Given the description of an element on the screen output the (x, y) to click on. 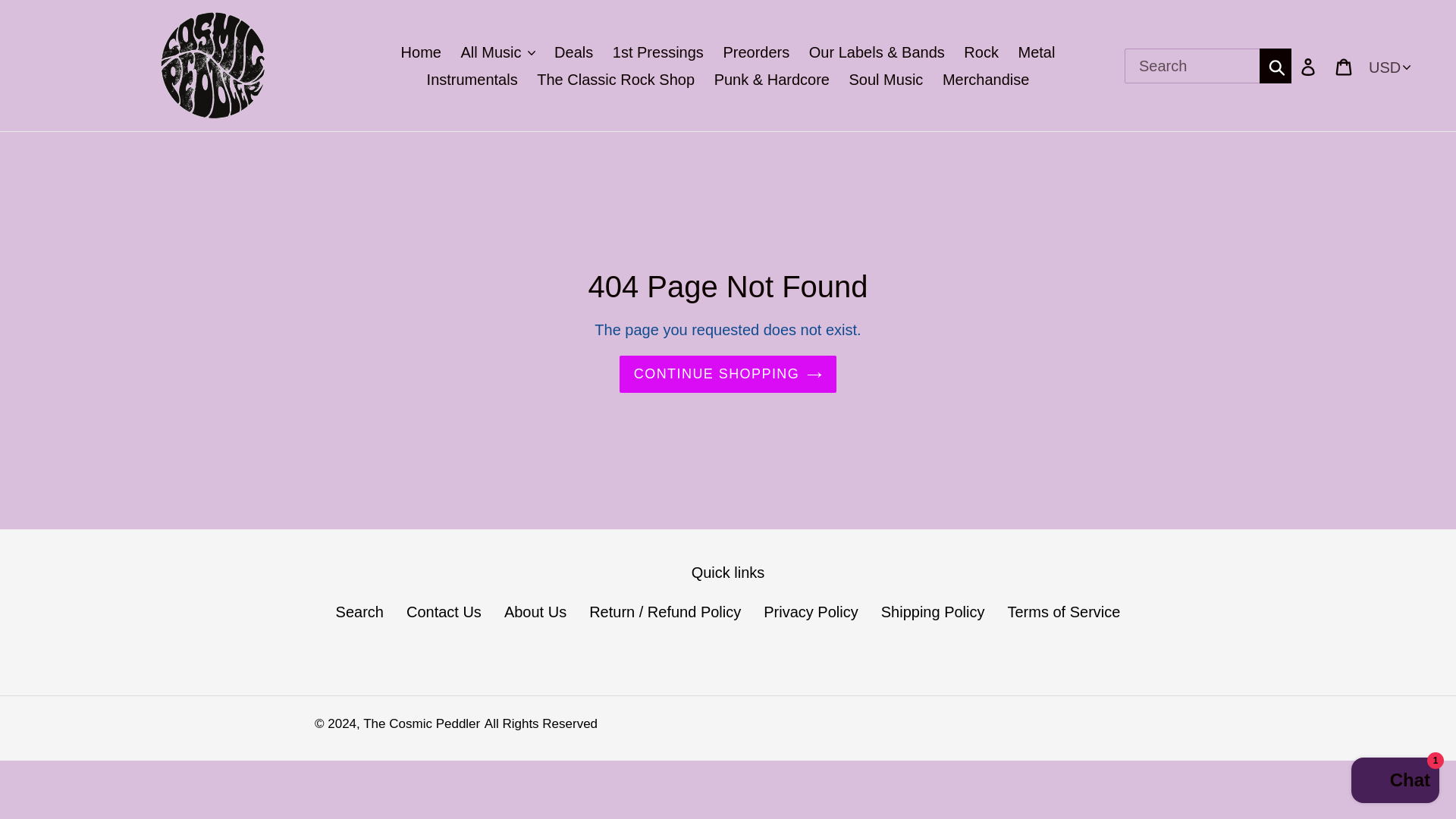
The Classic Rock Shop (615, 78)
Log in (1308, 65)
Home (420, 51)
Instrumentals (472, 78)
Soul Music (886, 78)
1st Pressings (658, 51)
Deals (573, 51)
Preorders (755, 51)
Submit (1275, 65)
Merchandise (985, 78)
Cart (1344, 65)
Rock (981, 51)
Metal (1036, 51)
